Given the description of an element on the screen output the (x, y) to click on. 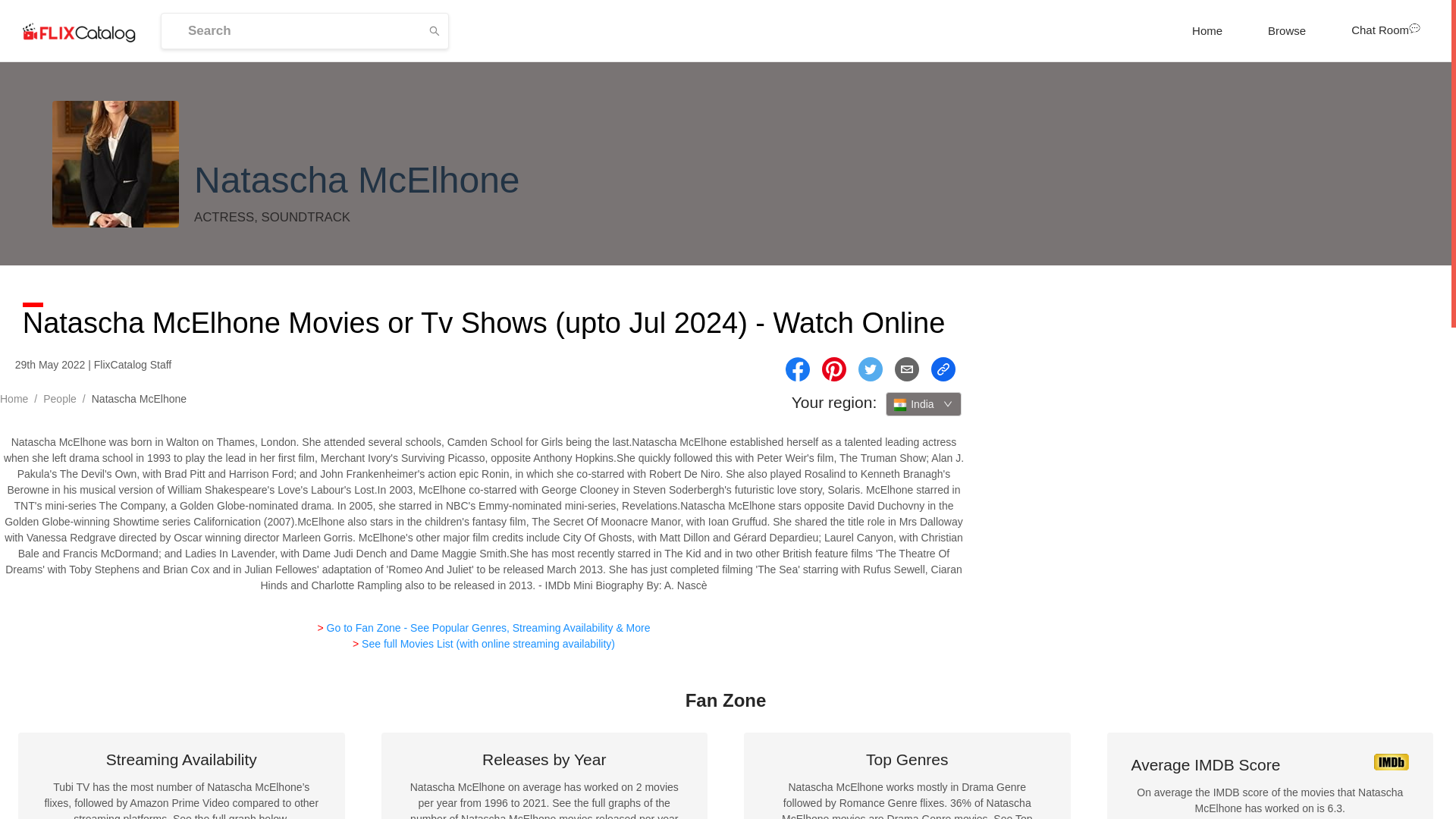
Pinterest (833, 369)
Facebook (797, 369)
Twitter (870, 369)
Chat Room (1385, 29)
Link (943, 369)
Link (943, 369)
Browse (1286, 30)
Mail (906, 369)
Facebook (797, 369)
Twitter (870, 369)
Mail (906, 369)
Home (13, 398)
Home (1206, 30)
Pinterest (833, 369)
